Given the description of an element on the screen output the (x, y) to click on. 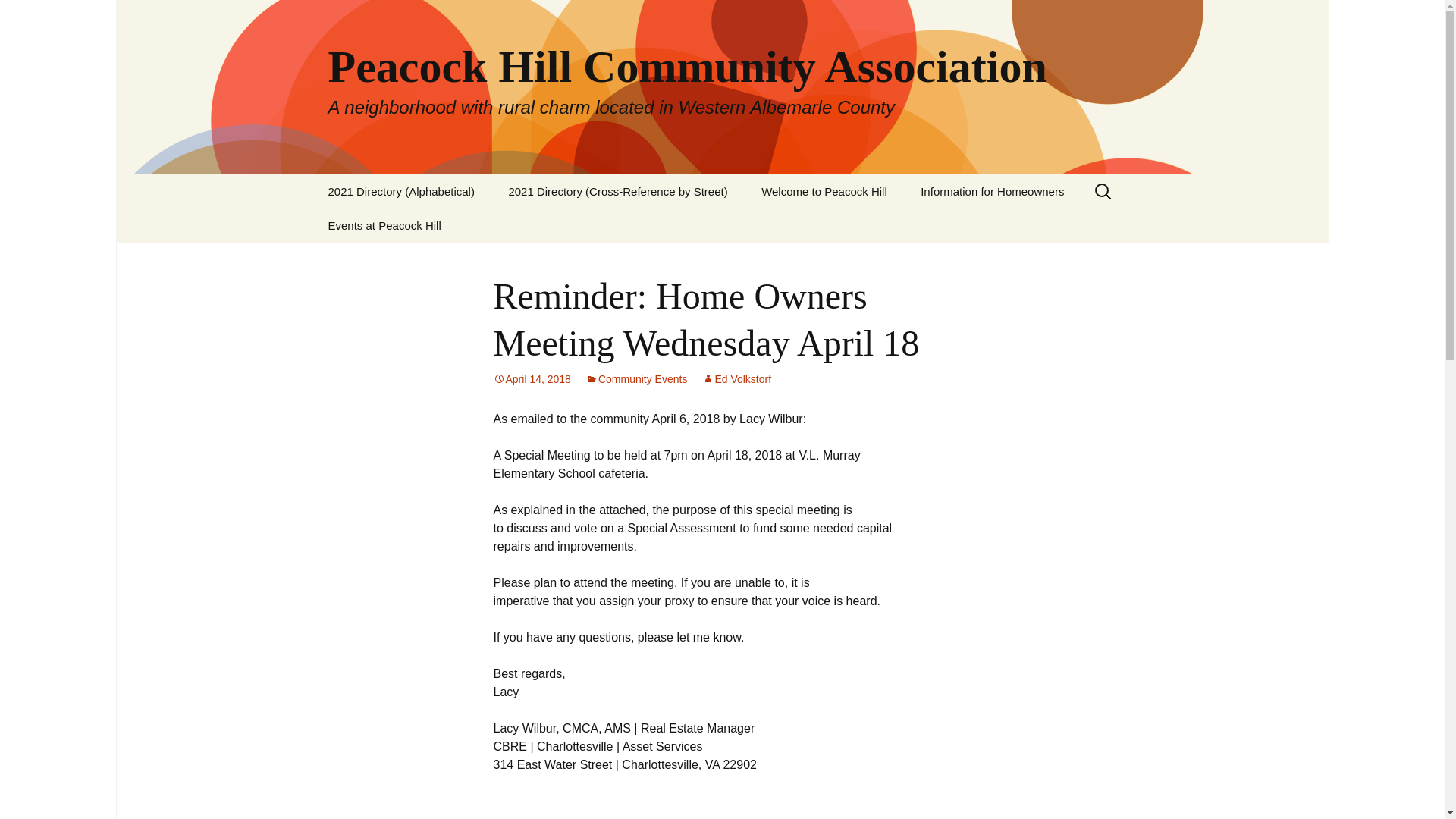
Information for Homeowners (991, 191)
April 14, 2018 (531, 378)
Search (18, 15)
Welcome to Peacock Hill (823, 191)
2016 Peacock Hill Community Association Halloween Photos (388, 270)
Ed Volkstorf (736, 378)
View all posts by Ed Volkstorf (736, 378)
